Given the description of an element on the screen output the (x, y) to click on. 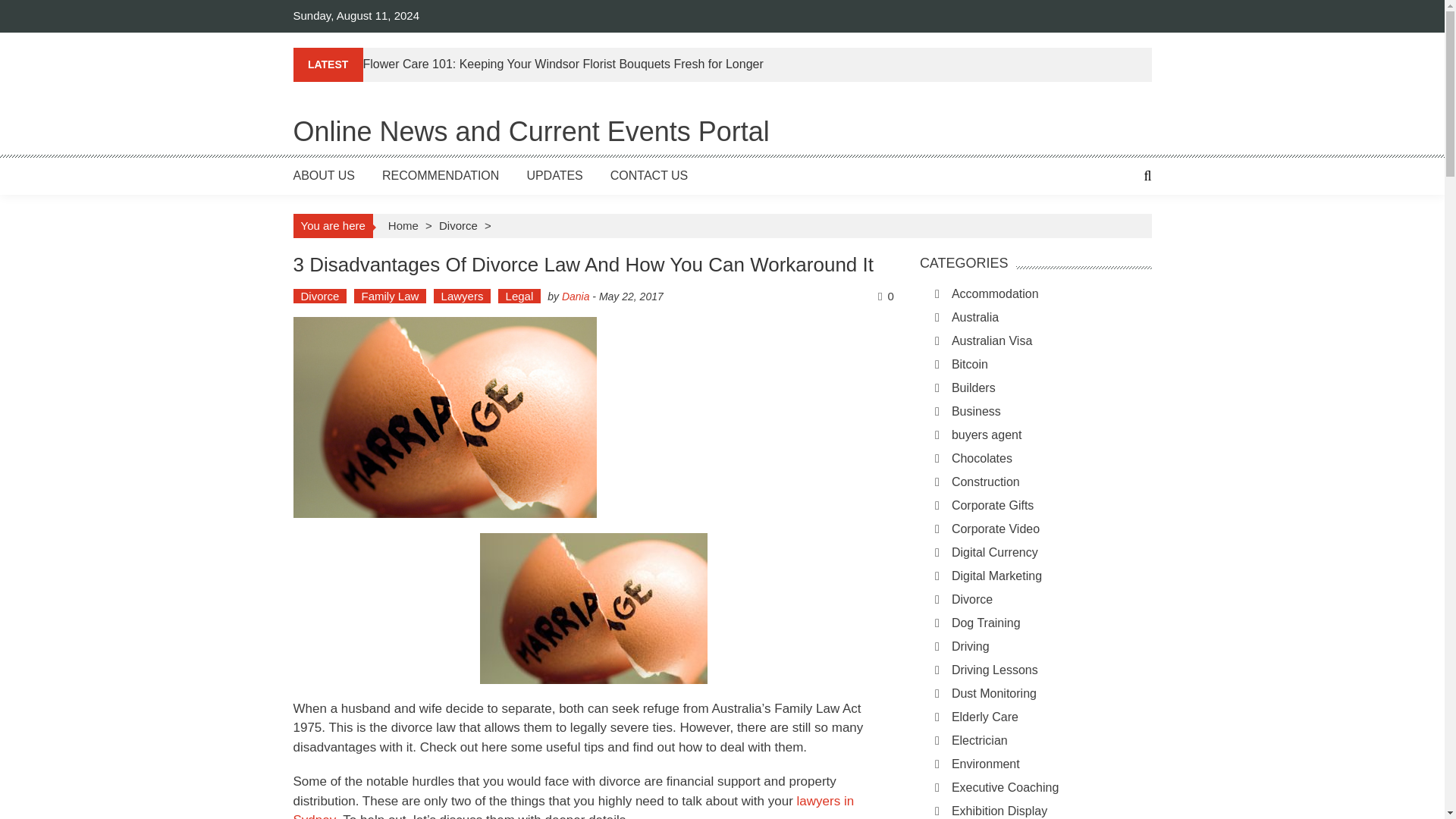
RECOMMENDATION (440, 174)
ABOUT US (323, 174)
Online News and Current Events Portal (530, 131)
Skip to content (37, 8)
